Given the description of an element on the screen output the (x, y) to click on. 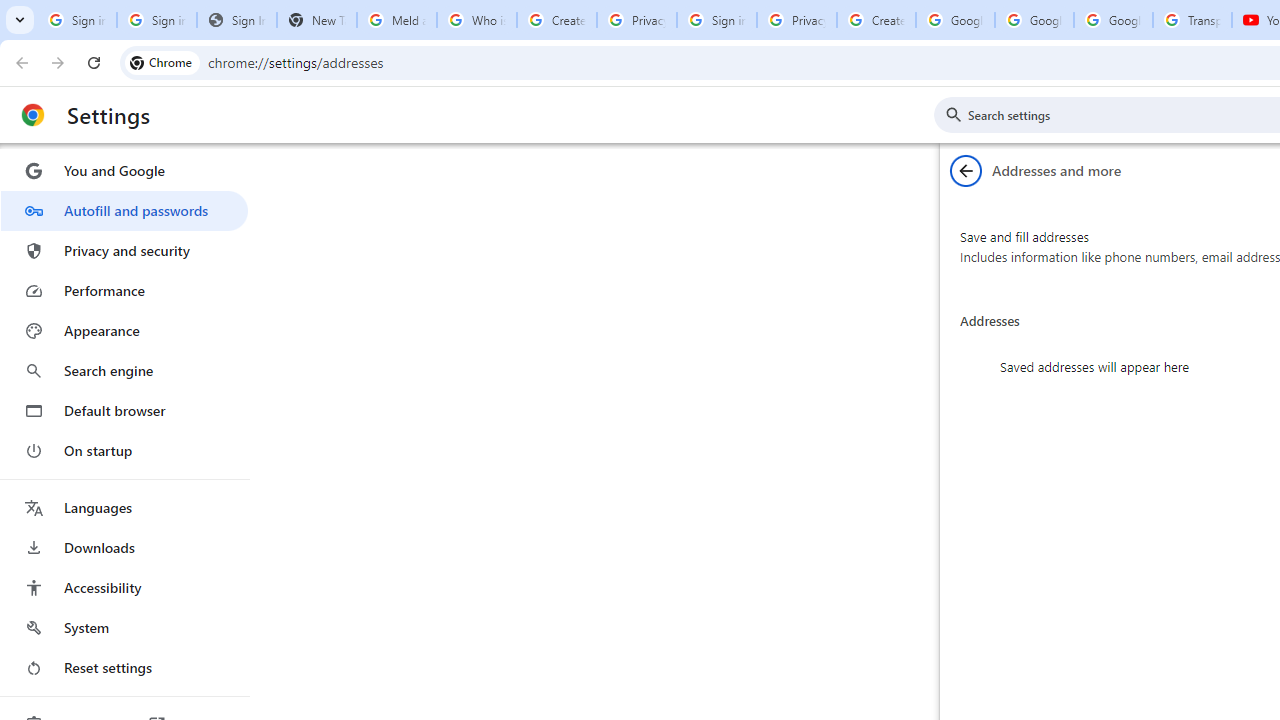
Autofill and passwords (124, 210)
Downloads (124, 547)
Sign in - Google Accounts (76, 20)
Default browser (124, 410)
Reset settings (124, 668)
Privacy and security (124, 250)
Languages (124, 507)
Create your Google Account (876, 20)
On startup (124, 450)
Create your Google Account (556, 20)
